Given the description of an element on the screen output the (x, y) to click on. 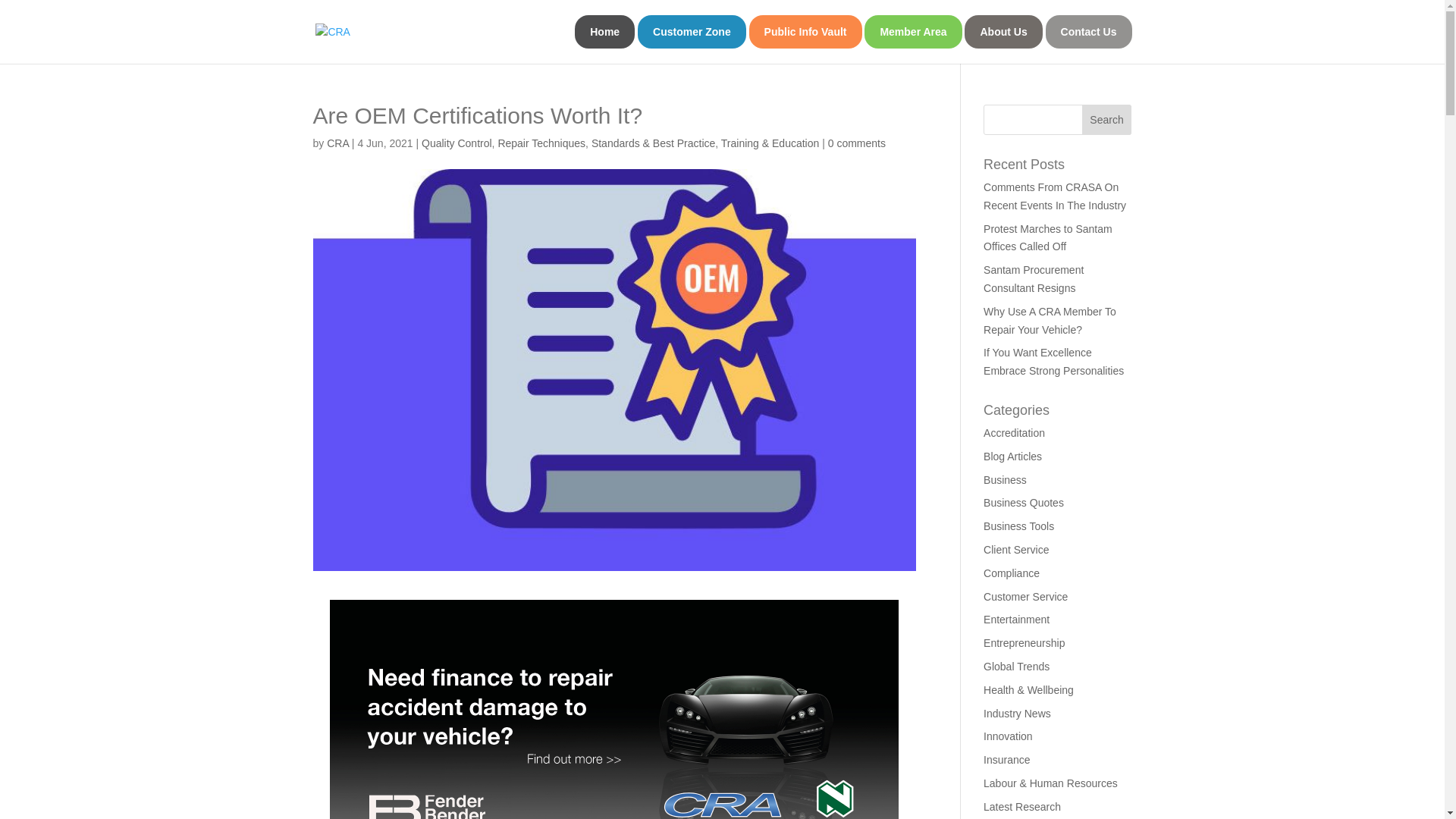
Repair Techniques (541, 143)
0 comments (856, 143)
Posts by CRA (337, 143)
Public Info Vault (805, 31)
Quality Control (457, 143)
Protest Marches to Santam Offices Called Off (1048, 237)
Santam Procurement Consultant Resigns (1033, 278)
Accreditation (1014, 432)
Customer Zone (691, 31)
Business Quotes (1024, 502)
